Given the description of an element on the screen output the (x, y) to click on. 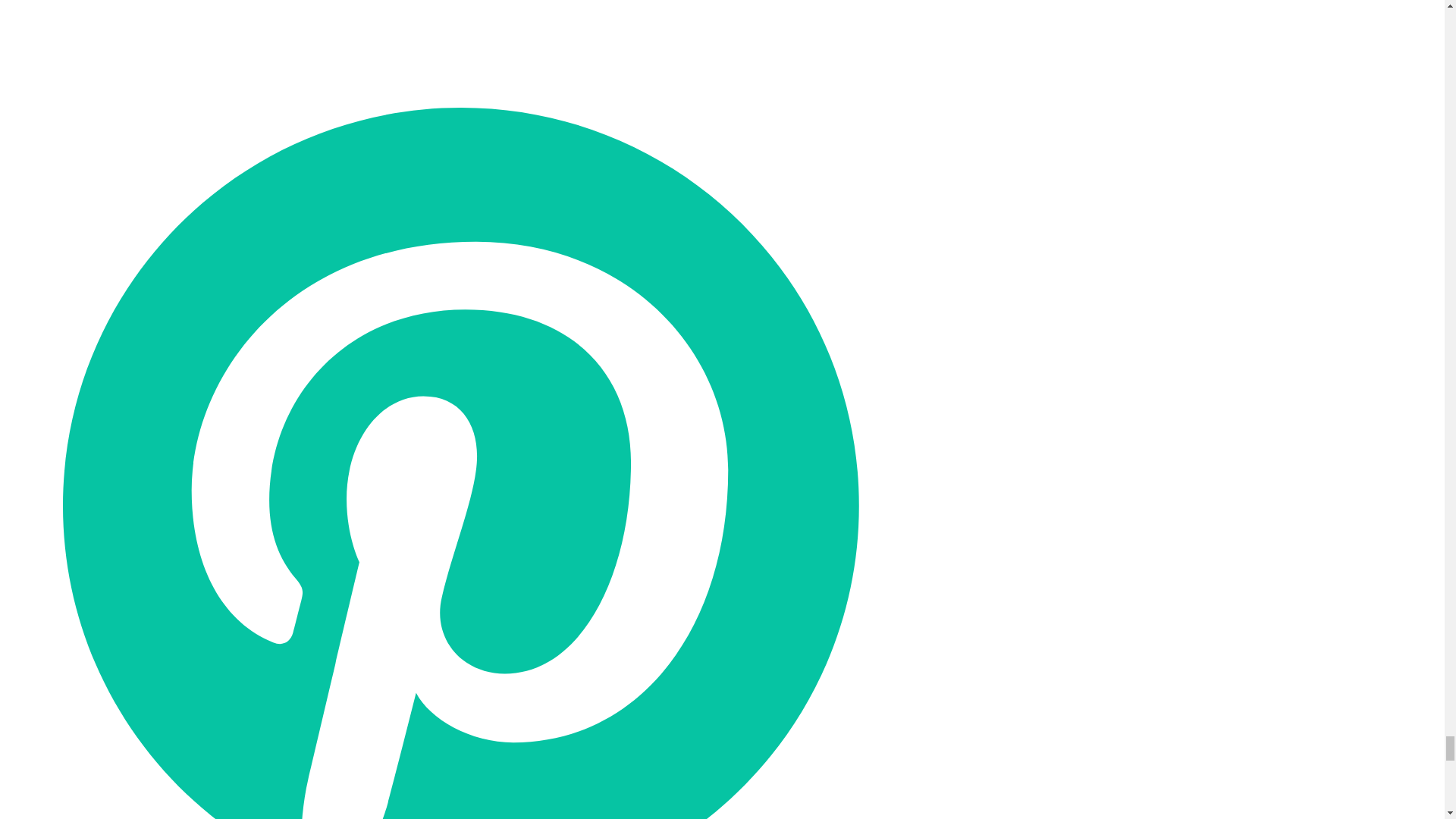
Facebook Copy-color Created with Sketch. (460, 23)
Facebook Copy-color Created with Sketch. (460, 24)
